Given the description of an element on the screen output the (x, y) to click on. 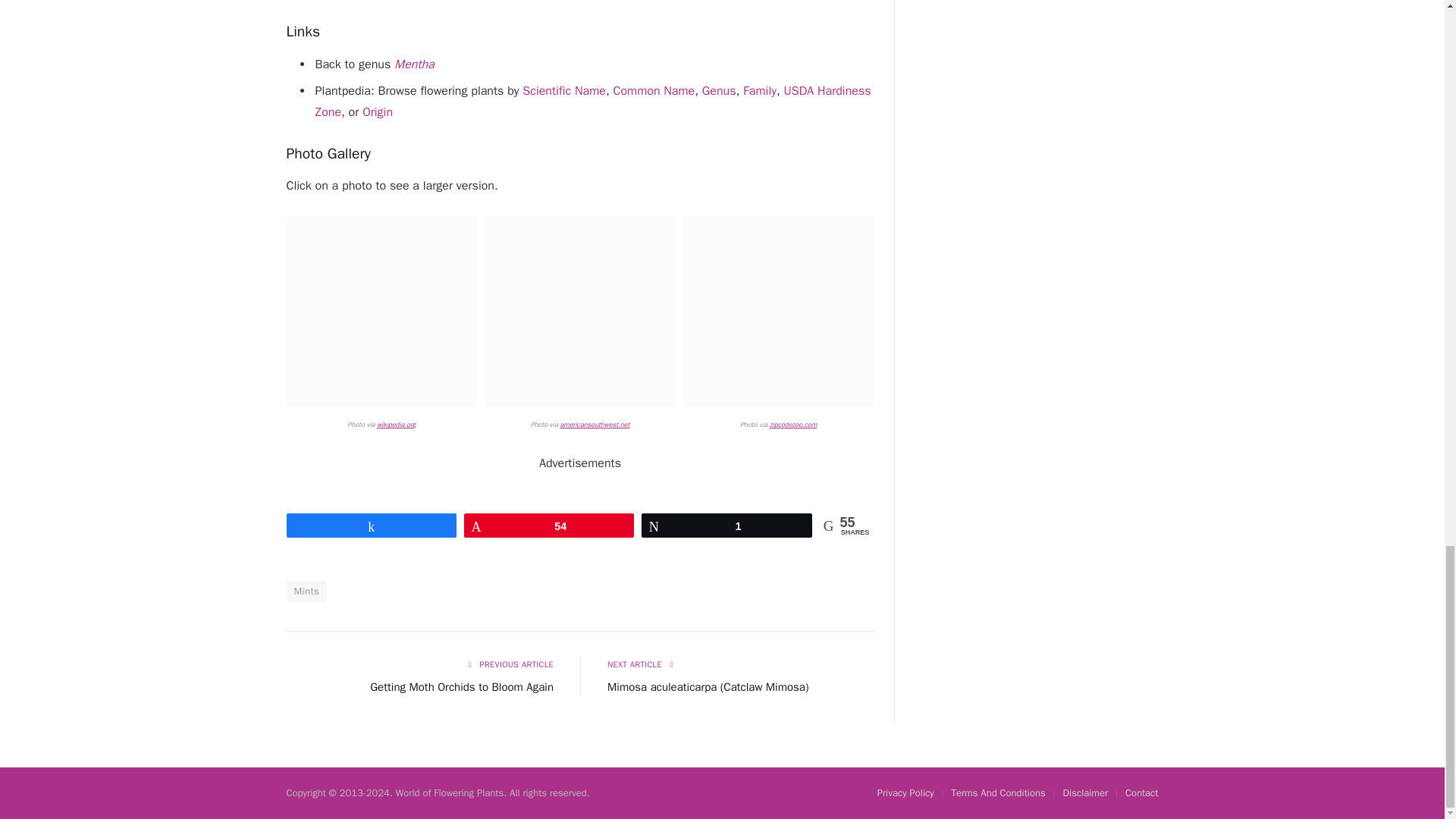
Browse Flowering Plants by Common Name (653, 90)
Browse Flowering Plants by Scientific Name (563, 90)
Browse Flowering Plants by Origin (377, 111)
Browse Flowering Plants by Family (759, 90)
Browse Flowering Plants by Genus (718, 90)
